Given the description of an element on the screen output the (x, y) to click on. 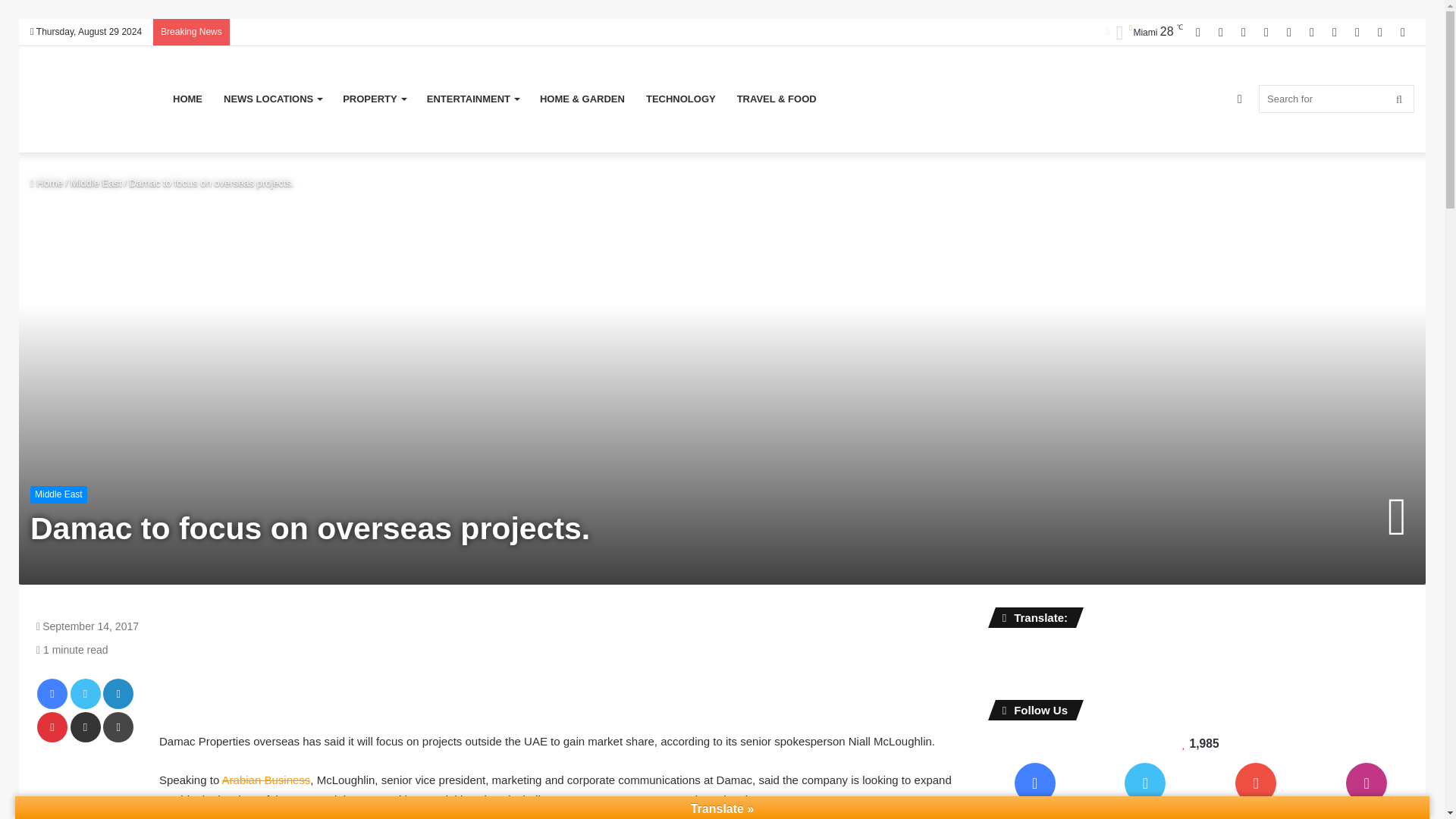
Facebook (51, 693)
Search for (1336, 99)
Italian (1032, 649)
Share via Email (84, 726)
Print (118, 726)
Scattered Clouds (1143, 31)
English (995, 649)
French (1014, 649)
Spanish (1050, 649)
ENTERTAINMENT (472, 98)
